Given the description of an element on the screen output the (x, y) to click on. 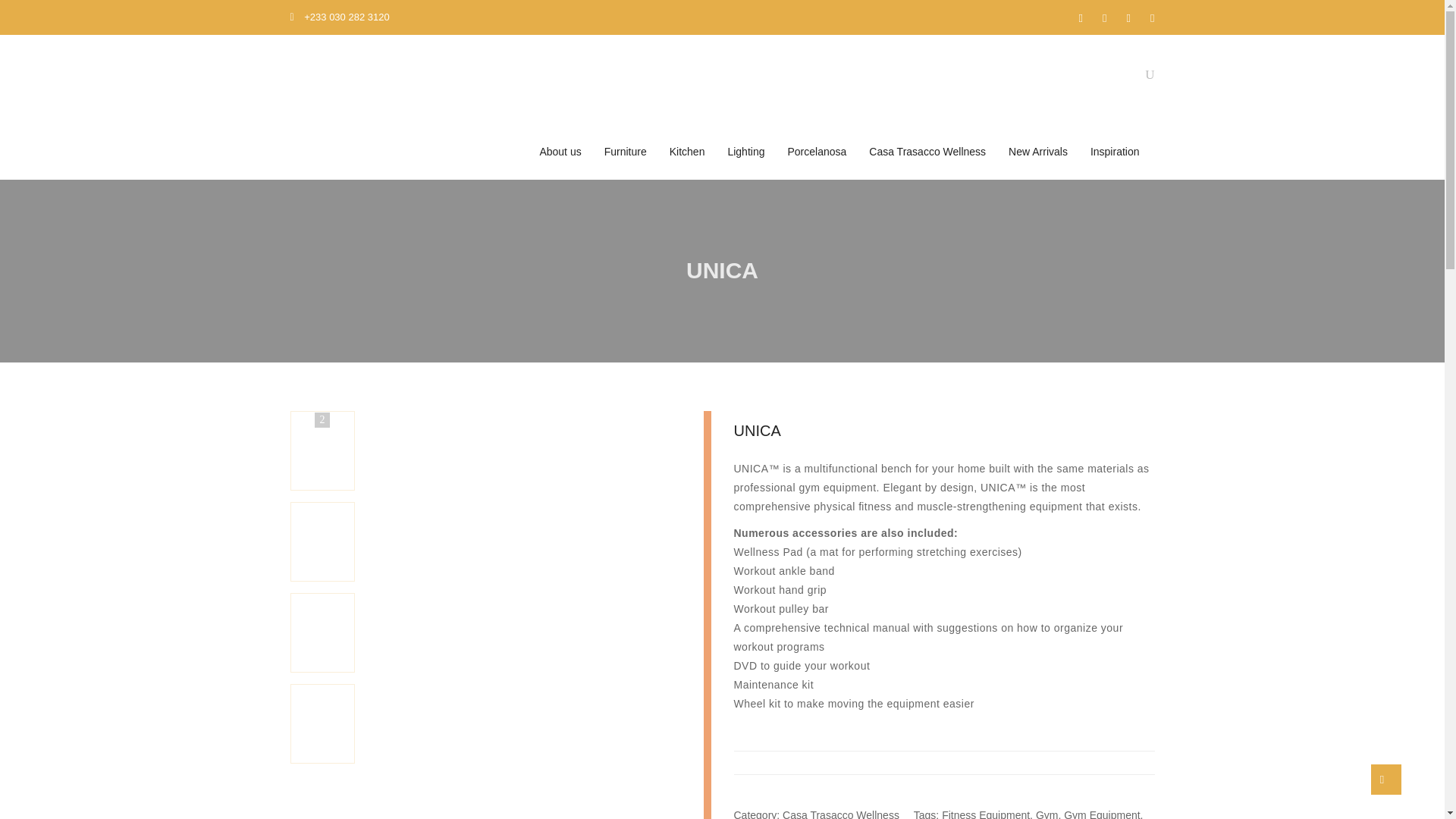
Lighting (745, 151)
unica-1 (404, 559)
unica-4 (404, 741)
Porcelanosa (815, 151)
Kitchen (687, 151)
Furniture (624, 151)
Search (1140, 147)
unica-3 (404, 650)
About us (559, 151)
